Given the description of an element on the screen output the (x, y) to click on. 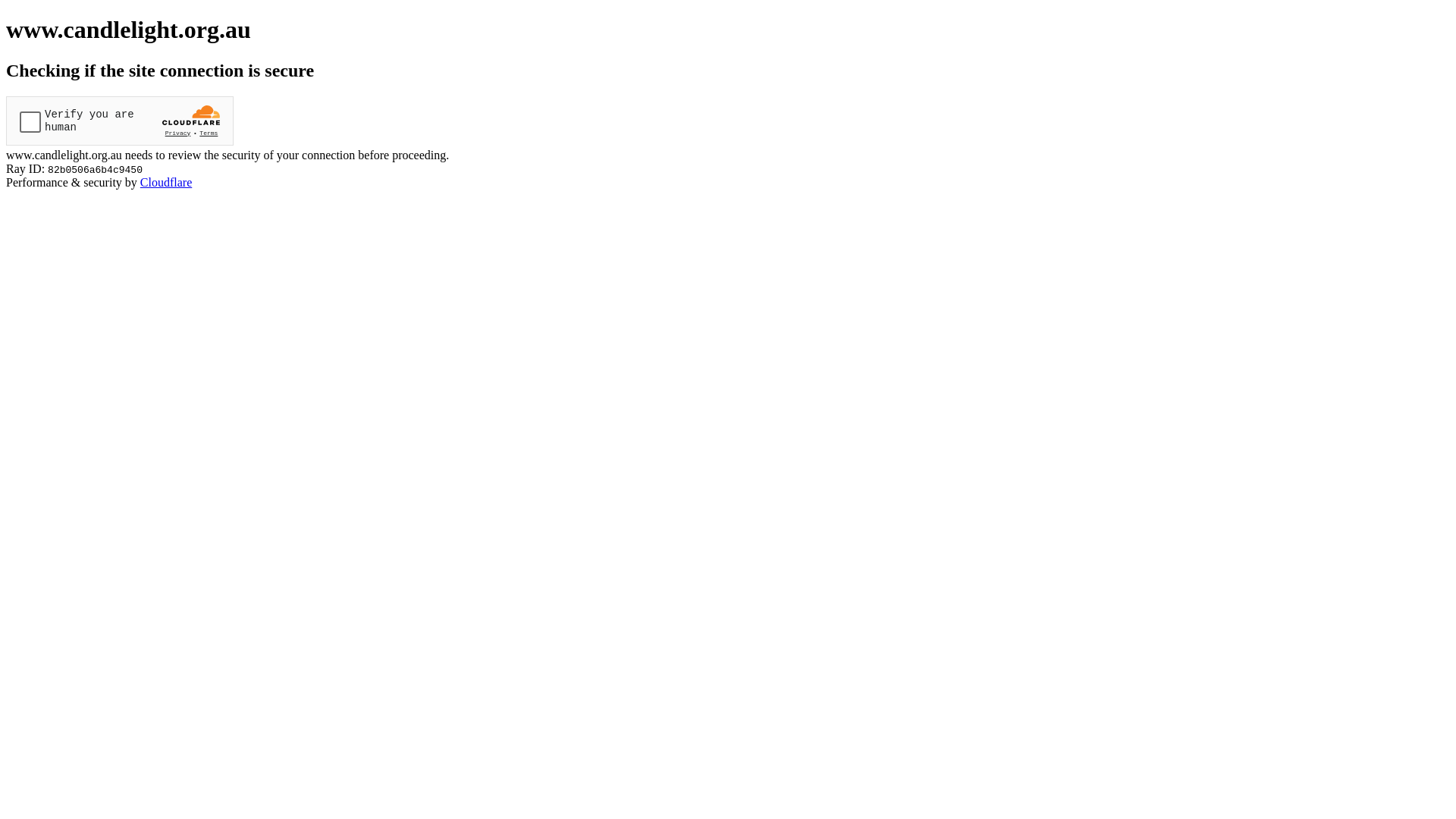
Cloudflare Element type: text (165, 181)
Widget containing a Cloudflare security challenge Element type: hover (119, 120)
